Given the description of an element on the screen output the (x, y) to click on. 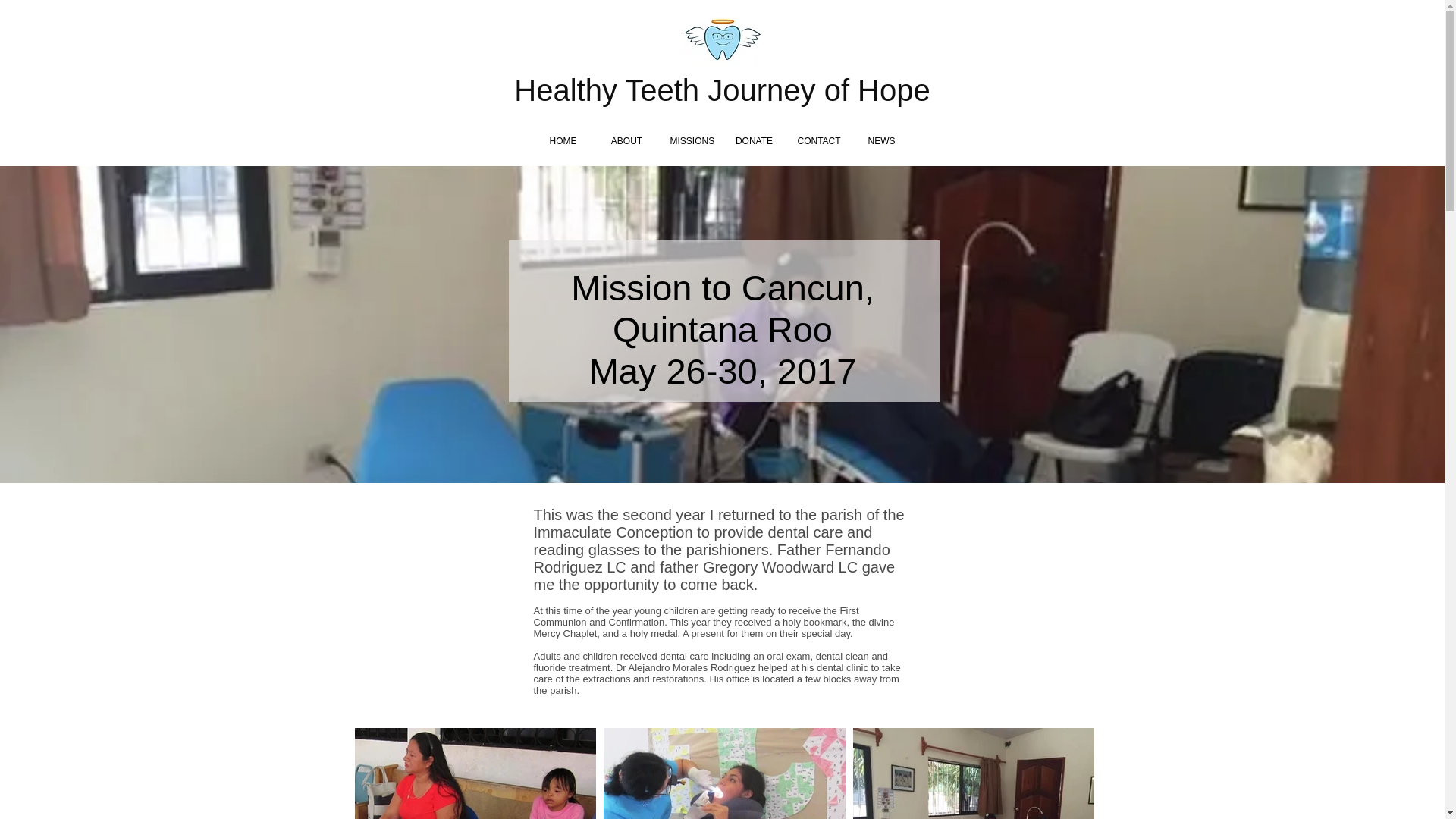
HOME (562, 141)
Healthy Teeth Journey of Hope (721, 90)
DONATE (754, 141)
ABOUT (626, 141)
MISSIONS (690, 141)
NEWS (880, 141)
CONTACT (817, 141)
